Given the description of an element on the screen output the (x, y) to click on. 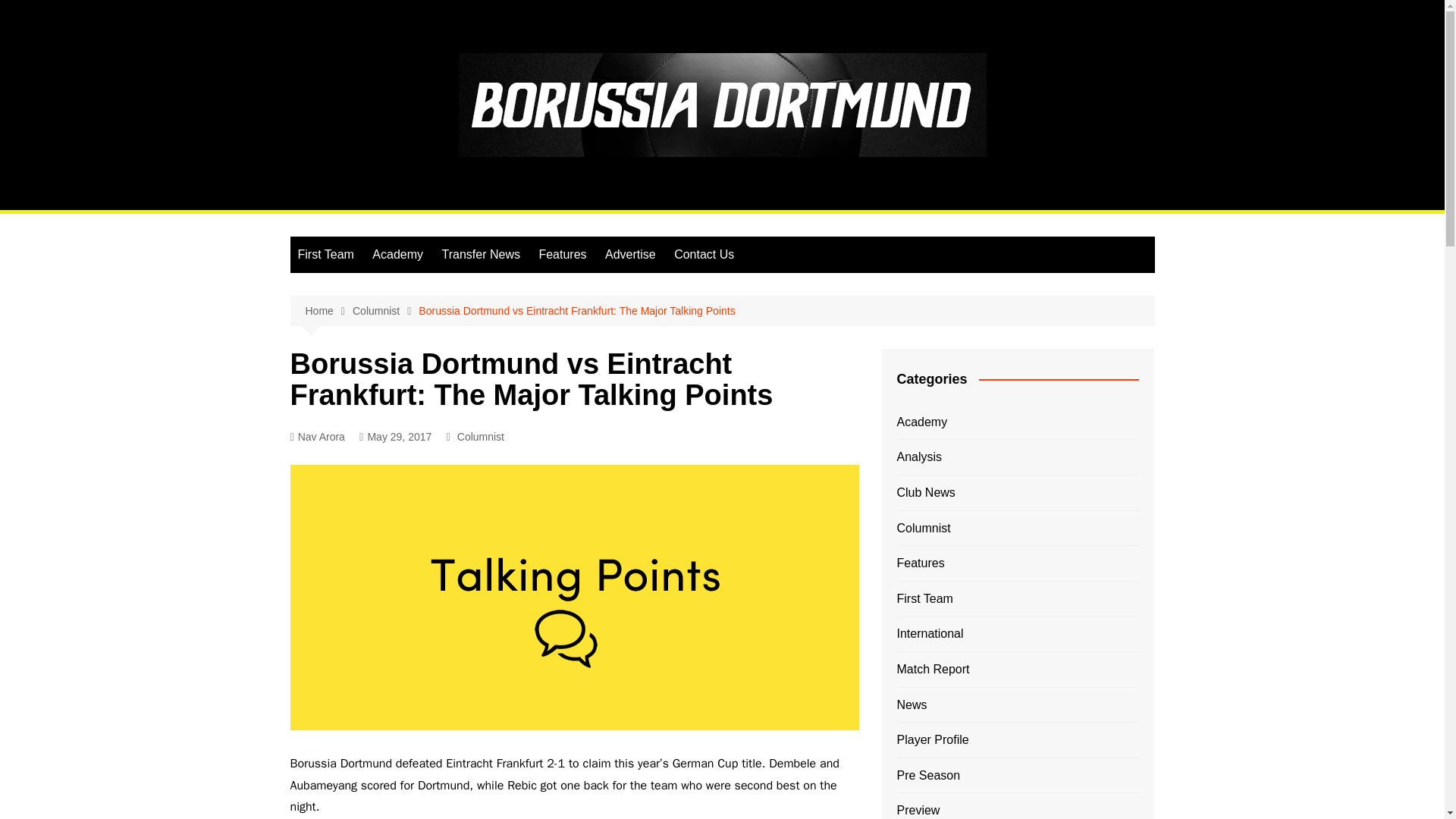
May 29, 2017 (394, 436)
First Team (325, 254)
Academy (397, 254)
Academy News (397, 254)
Columnist (480, 436)
Nav Arora (316, 436)
Advertise (629, 254)
Home (328, 311)
Columnist (385, 311)
First Team News (325, 254)
